Given the description of an element on the screen output the (x, y) to click on. 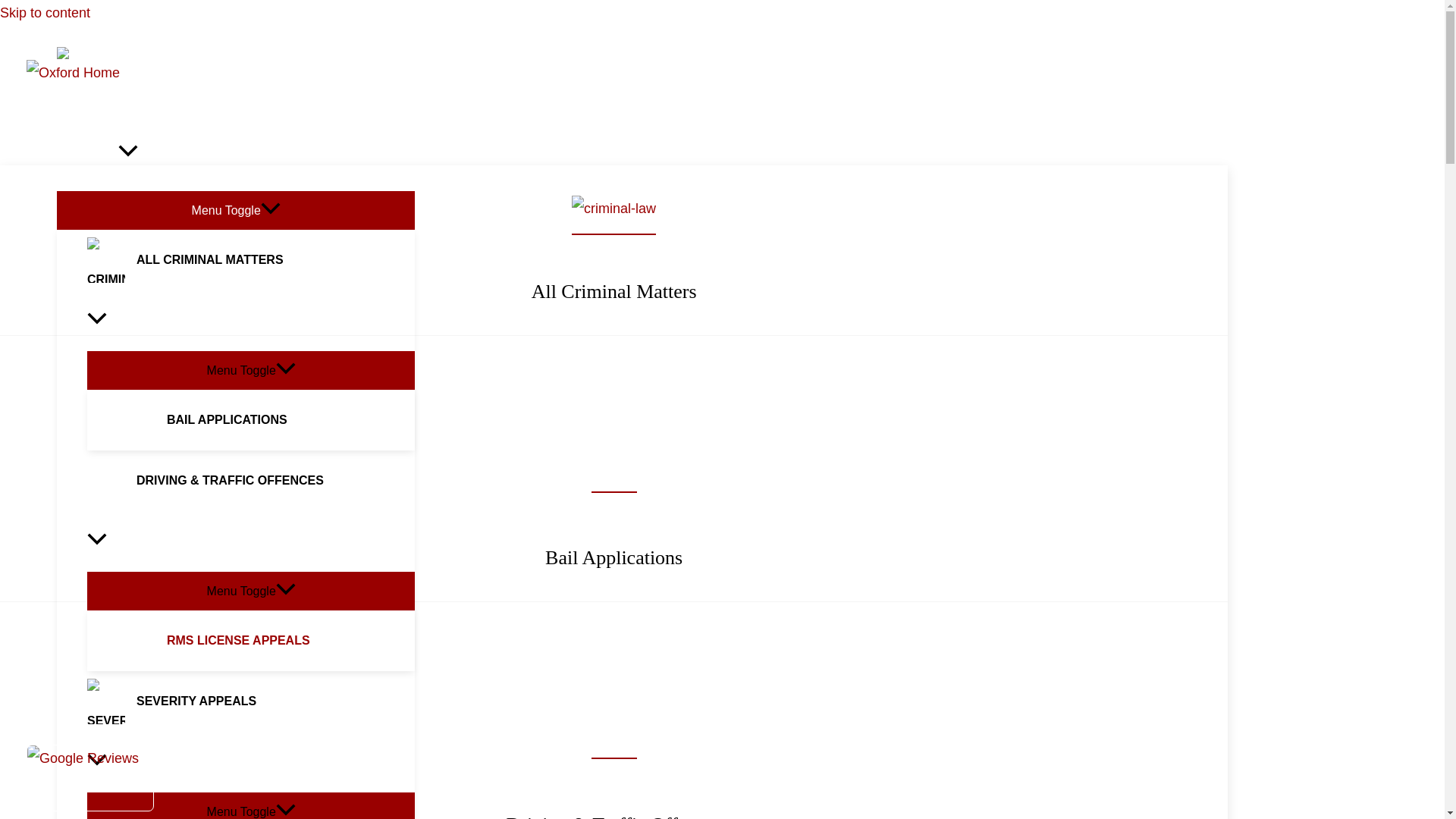
Menu Toggle (250, 590)
ALL CRIMINAL MATTERS (250, 290)
Skip to content (45, 12)
Menu Toggle (250, 369)
SEVERITY APPEALS (250, 731)
Menu Toggle (235, 209)
Menu Toggle (250, 805)
BAIL APPLICATIONS (265, 419)
